Given the description of an element on the screen output the (x, y) to click on. 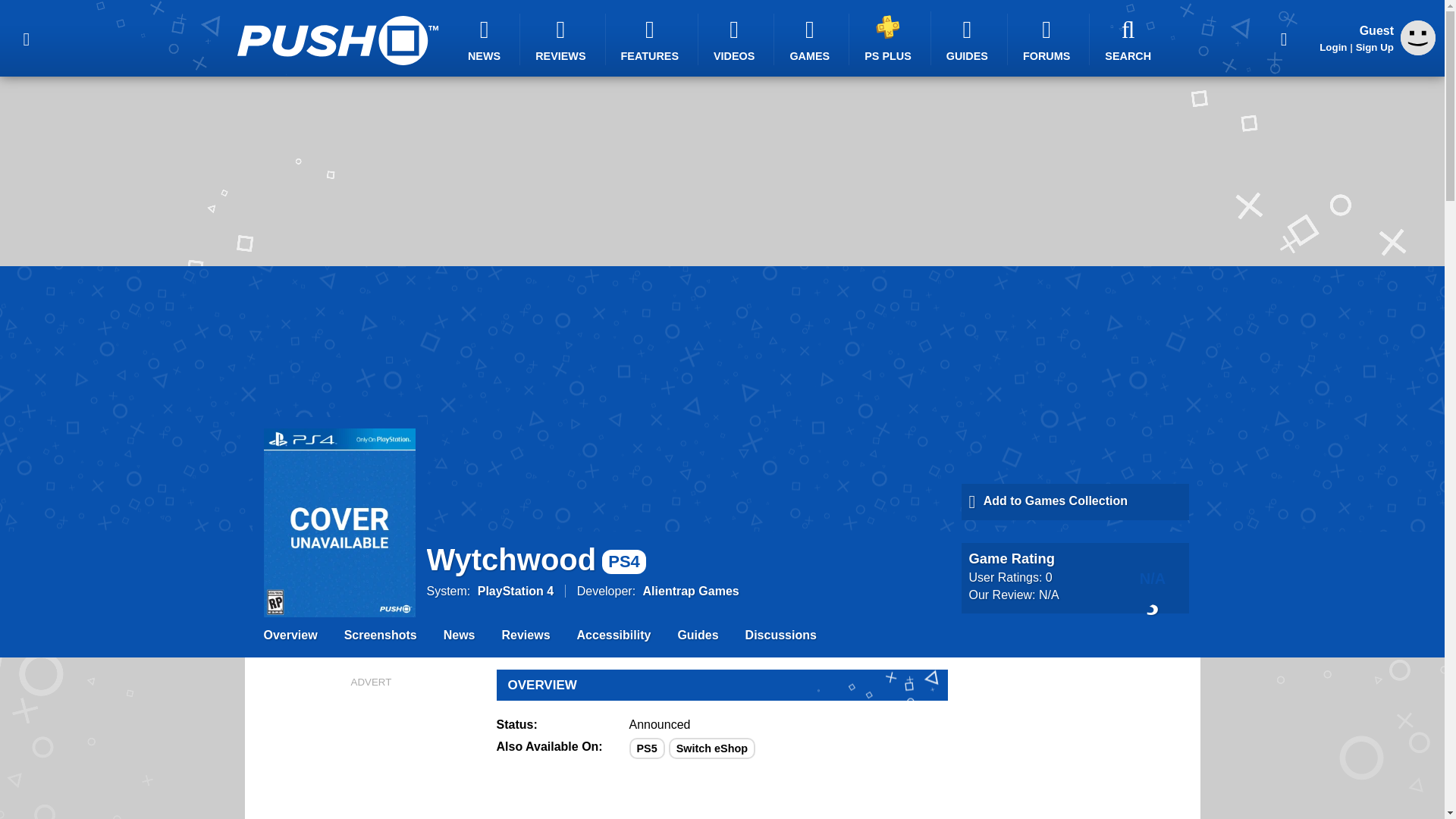
VIDEOS (736, 39)
SEARCH (1129, 39)
Guest (1417, 51)
Push Square (336, 40)
REVIEWS (562, 39)
Sign Up (1374, 47)
PS PLUS (889, 38)
Menu (26, 37)
GAMES (811, 39)
The average score from our readers is 0 (1152, 576)
